Given the description of an element on the screen output the (x, y) to click on. 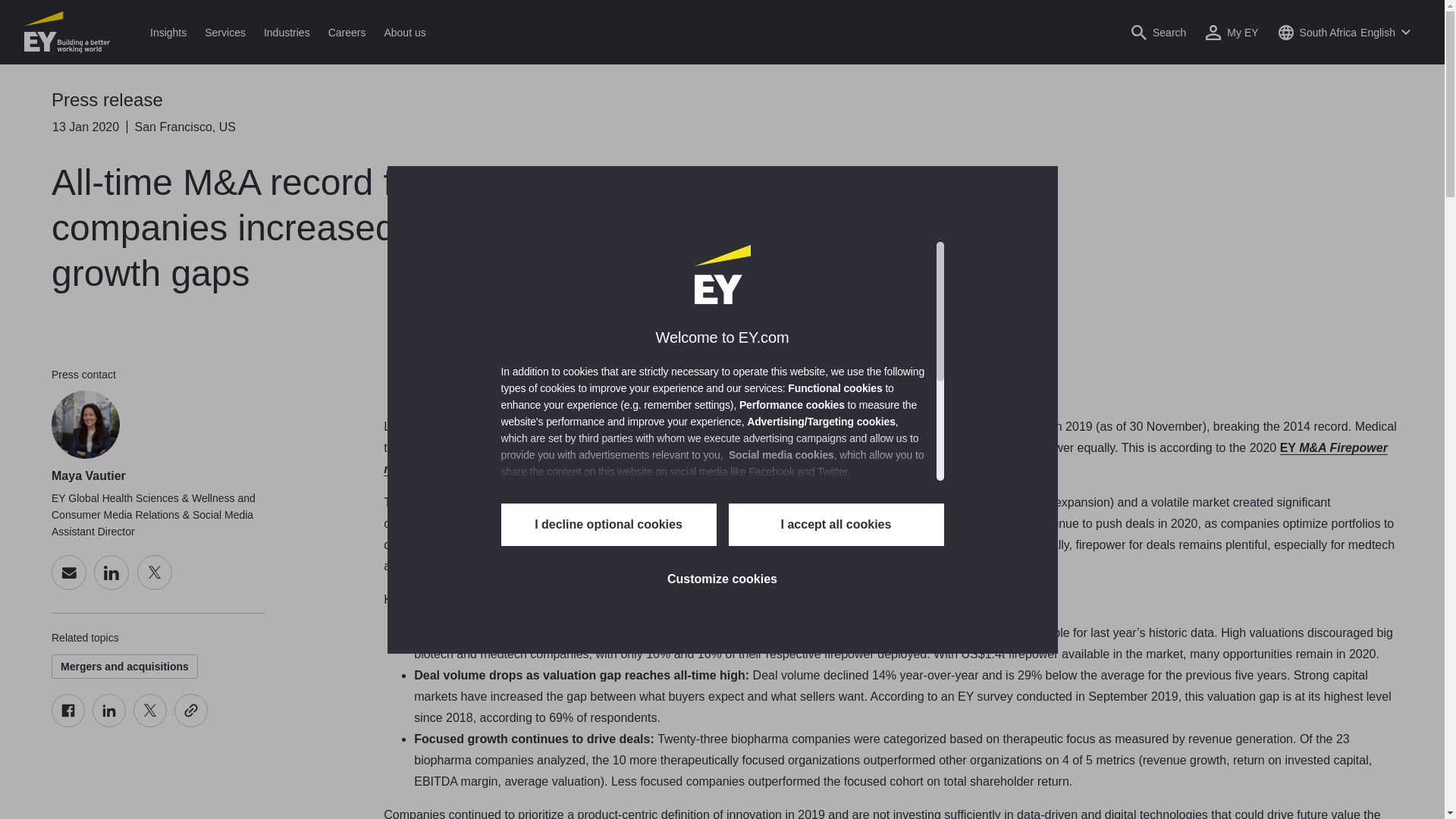
Social Media Share (129, 710)
Maya Vautier (84, 424)
Facebook (67, 710)
My EY (1232, 32)
Linkedin (109, 710)
EY Homepage (67, 32)
Copy link (191, 710)
Open country language switcher (1344, 32)
Open search (1157, 32)
